Given the description of an element on the screen output the (x, y) to click on. 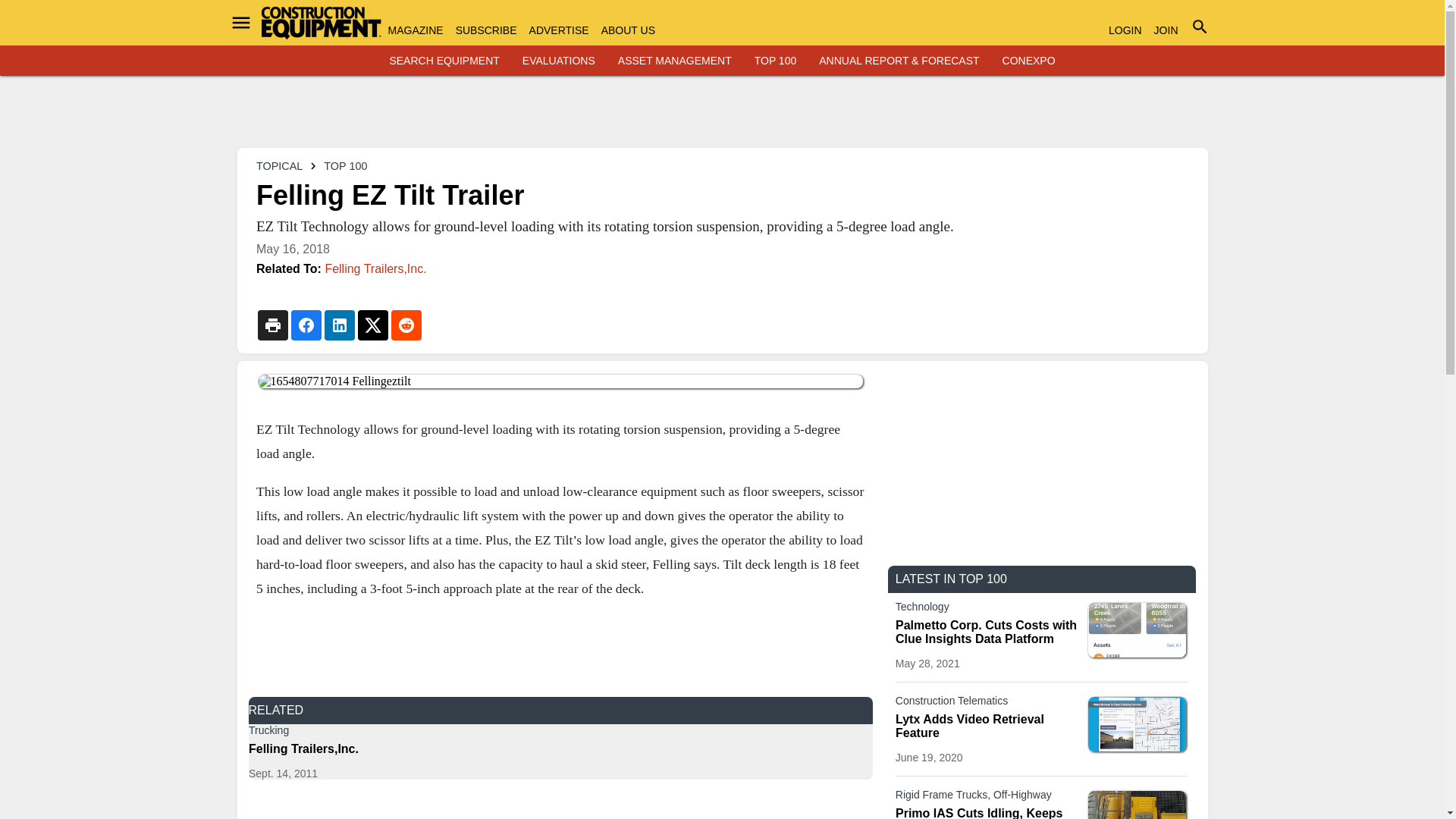
Clue - Palmetto asset for Construction Equipment piece (1136, 629)
EVALUATIONS (558, 60)
1654807717014 Fellingeztilt (559, 381)
Lytx-video-map (1136, 723)
LOGIN (1124, 30)
ABOUT US (628, 30)
CONEXPO (1029, 60)
Primo-IAS-idling-system (1136, 805)
MAGAZINE (416, 30)
ADVERTISE (559, 30)
TOP 100 (775, 60)
SEARCH EQUIPMENT (443, 60)
JOIN (1165, 30)
SUBSCRIBE (485, 30)
ASSET MANAGEMENT (674, 60)
